Given the description of an element on the screen output the (x, y) to click on. 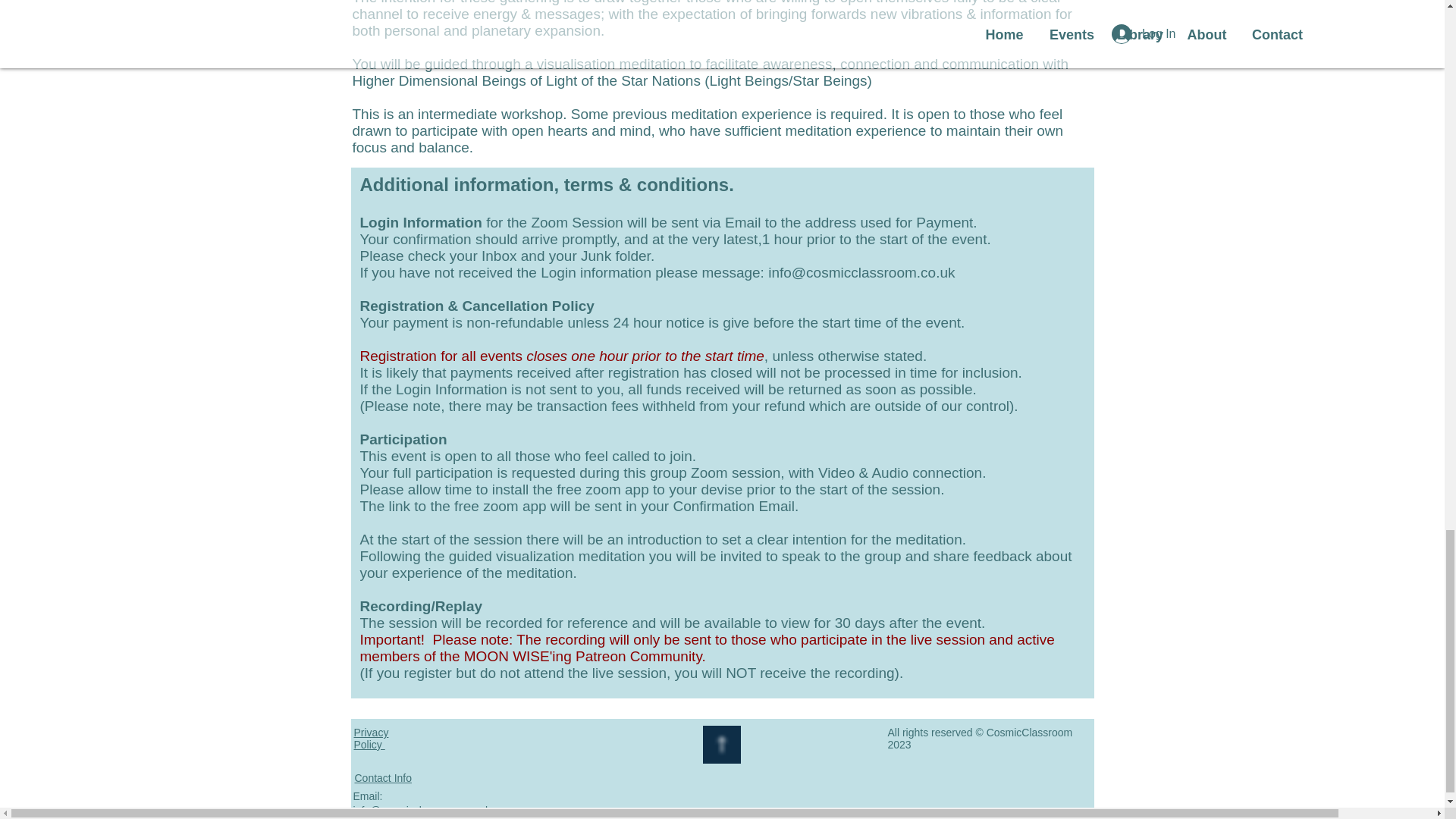
Privacy Policy  (370, 738)
Contact Info (383, 777)
